Given the description of an element on the screen output the (x, y) to click on. 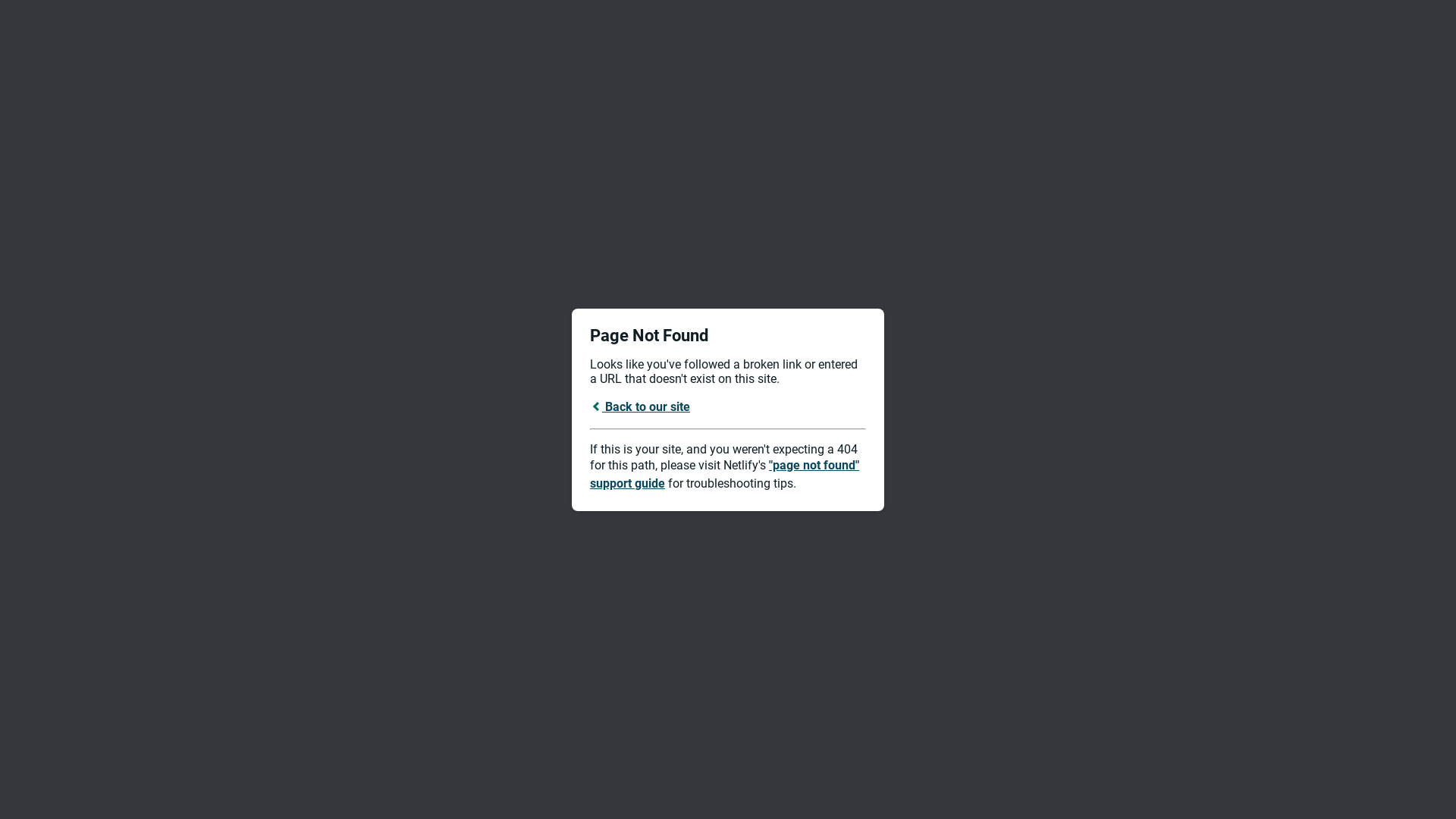
"page not found" support guide Element type: text (724, 474)
Back to our site Element type: text (639, 405)
